Given the description of an element on the screen output the (x, y) to click on. 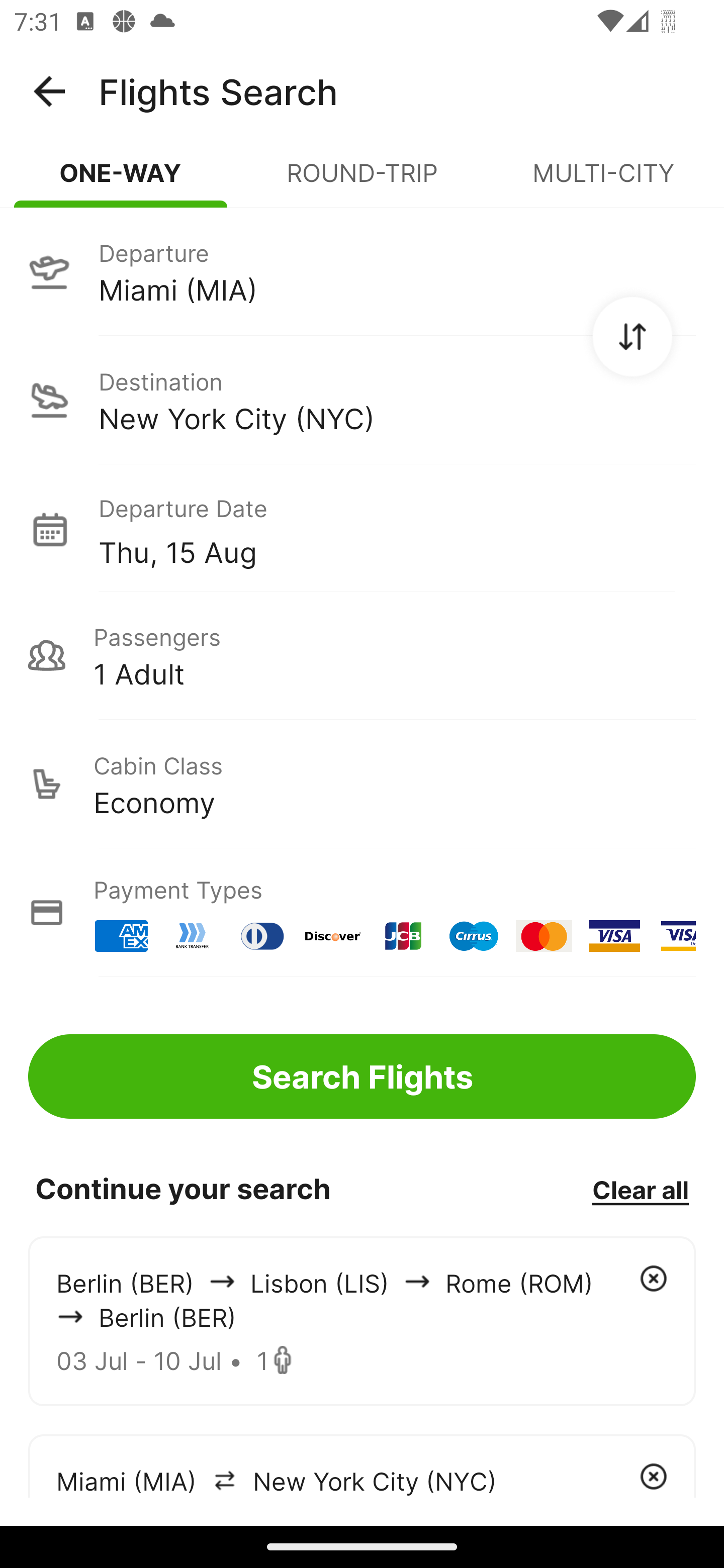
ONE-WAY (120, 180)
ROUND-TRIP (361, 180)
MULTI-CITY (603, 180)
Departure Miami (MIA) (362, 270)
Destination New York City (NYC) (362, 400)
Departure Date Thu, 15 Aug (396, 528)
Passengers 1 Adult (362, 655)
Cabin Class Economy (362, 783)
Payment Types (362, 912)
Search Flights (361, 1075)
Clear all (640, 1189)
Miami (MIA)  arrowIcon  New York City (NYC) (361, 1465)
